Given the description of an element on the screen output the (x, y) to click on. 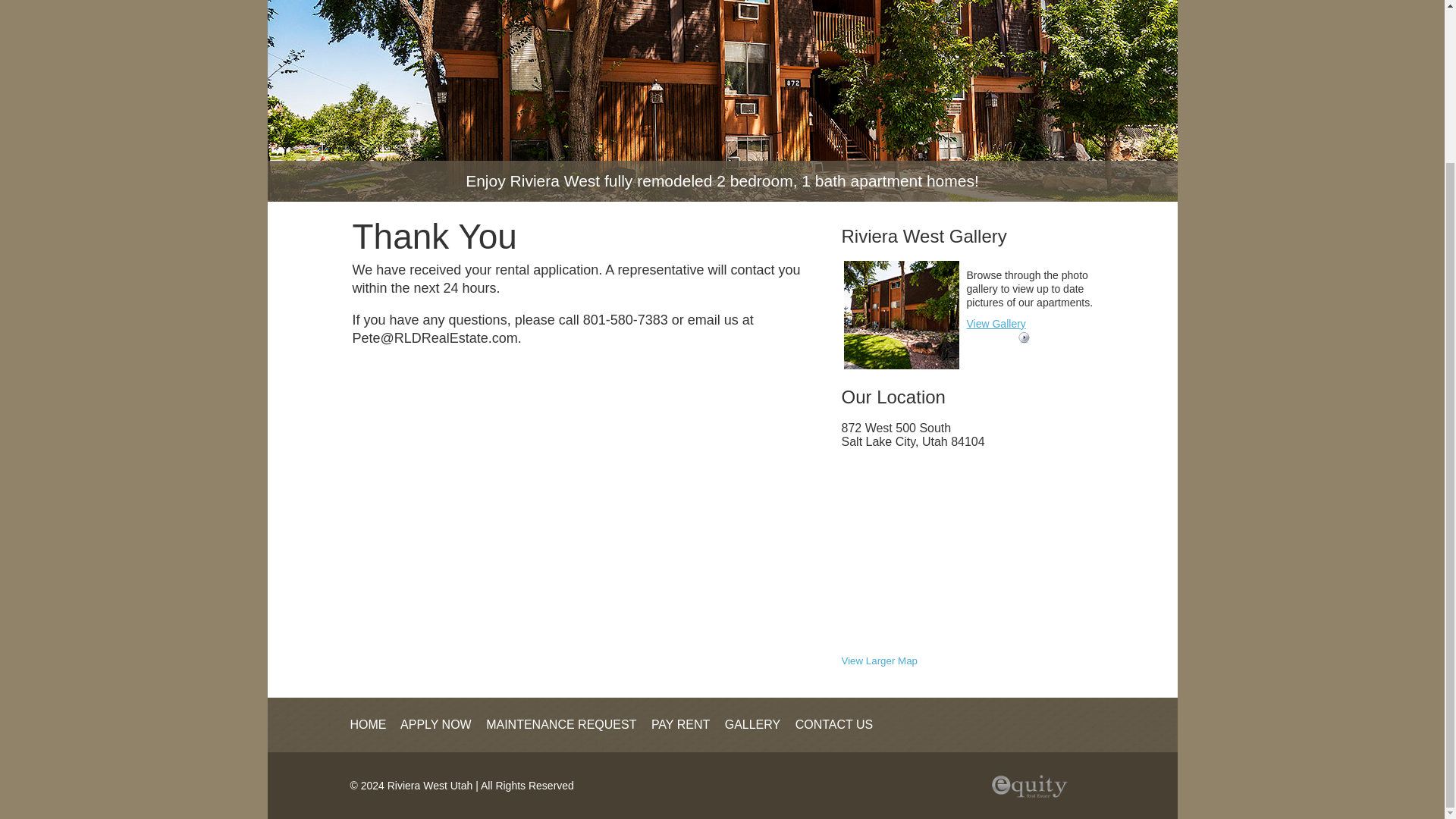
MAINTENANCE REQUEST (566, 724)
GALLERY (758, 724)
APPLY NOW (441, 724)
CONTACT US (839, 724)
PAY RENT (685, 724)
View Larger Map (879, 660)
View Gallery (995, 323)
HOME (373, 724)
